Given the description of an element on the screen output the (x, y) to click on. 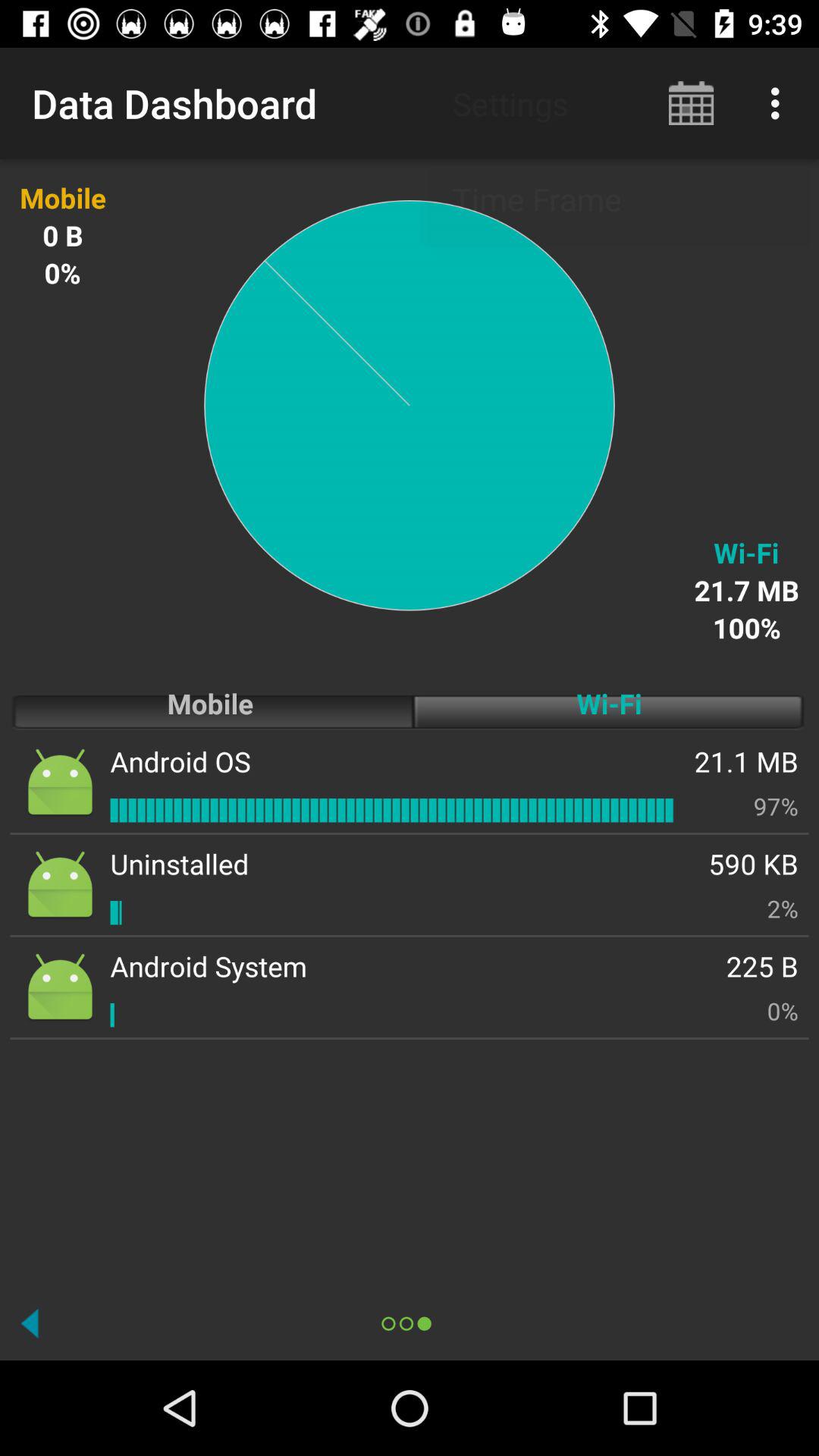
press the app to the right of the data dashboard item (691, 103)
